Given the description of an element on the screen output the (x, y) to click on. 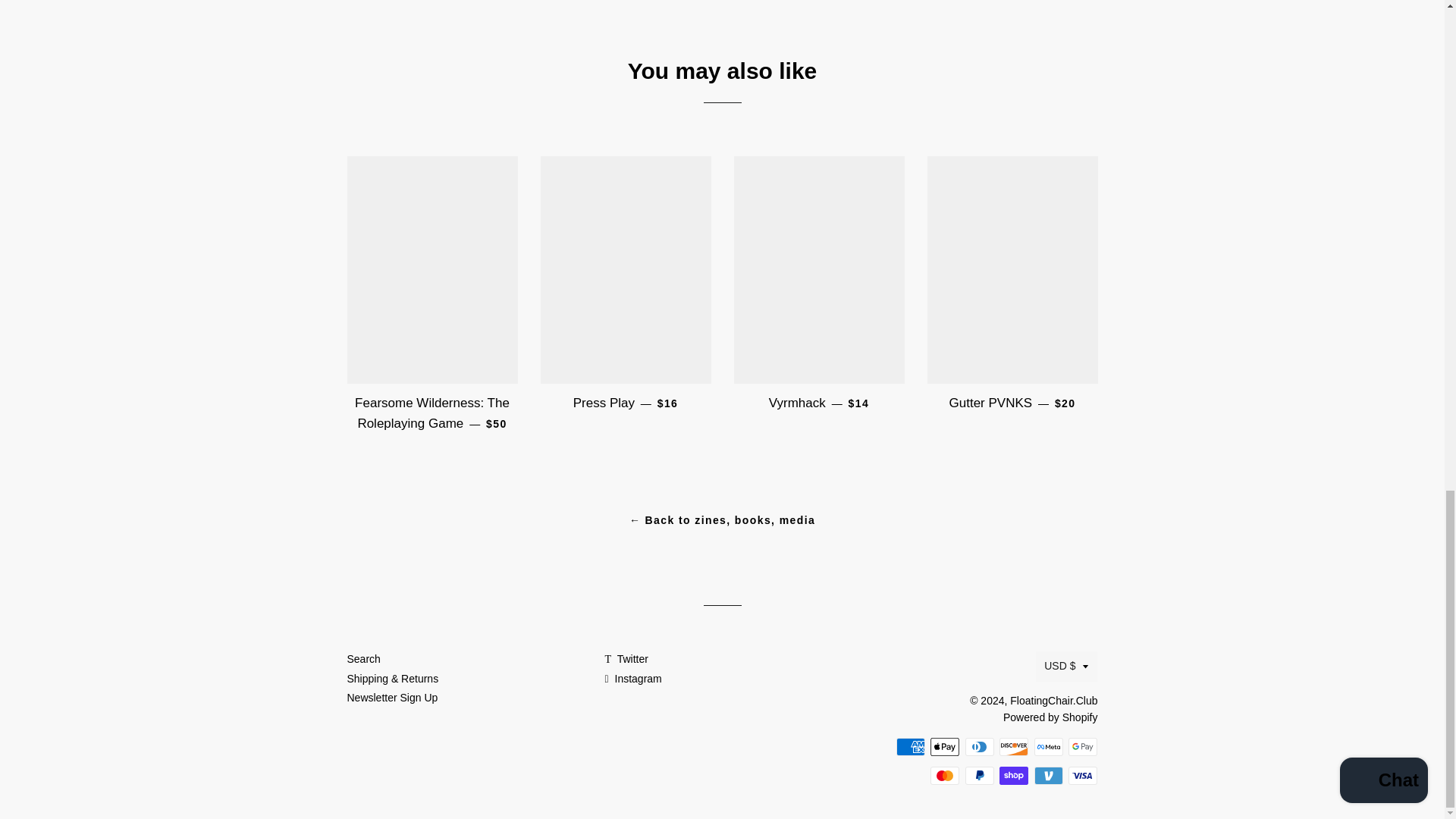
Apple Pay (944, 746)
PayPal (979, 775)
Google Pay (1082, 746)
Meta Pay (1047, 746)
Mastercard (944, 775)
FloatingChair.Club on Instagram (632, 678)
Discover (1012, 746)
American Express (910, 746)
FloatingChair.Club on Twitter (625, 658)
Venmo (1047, 775)
Shop Pay (1012, 775)
Visa (1082, 775)
Diners Club (979, 746)
